Given the description of an element on the screen output the (x, y) to click on. 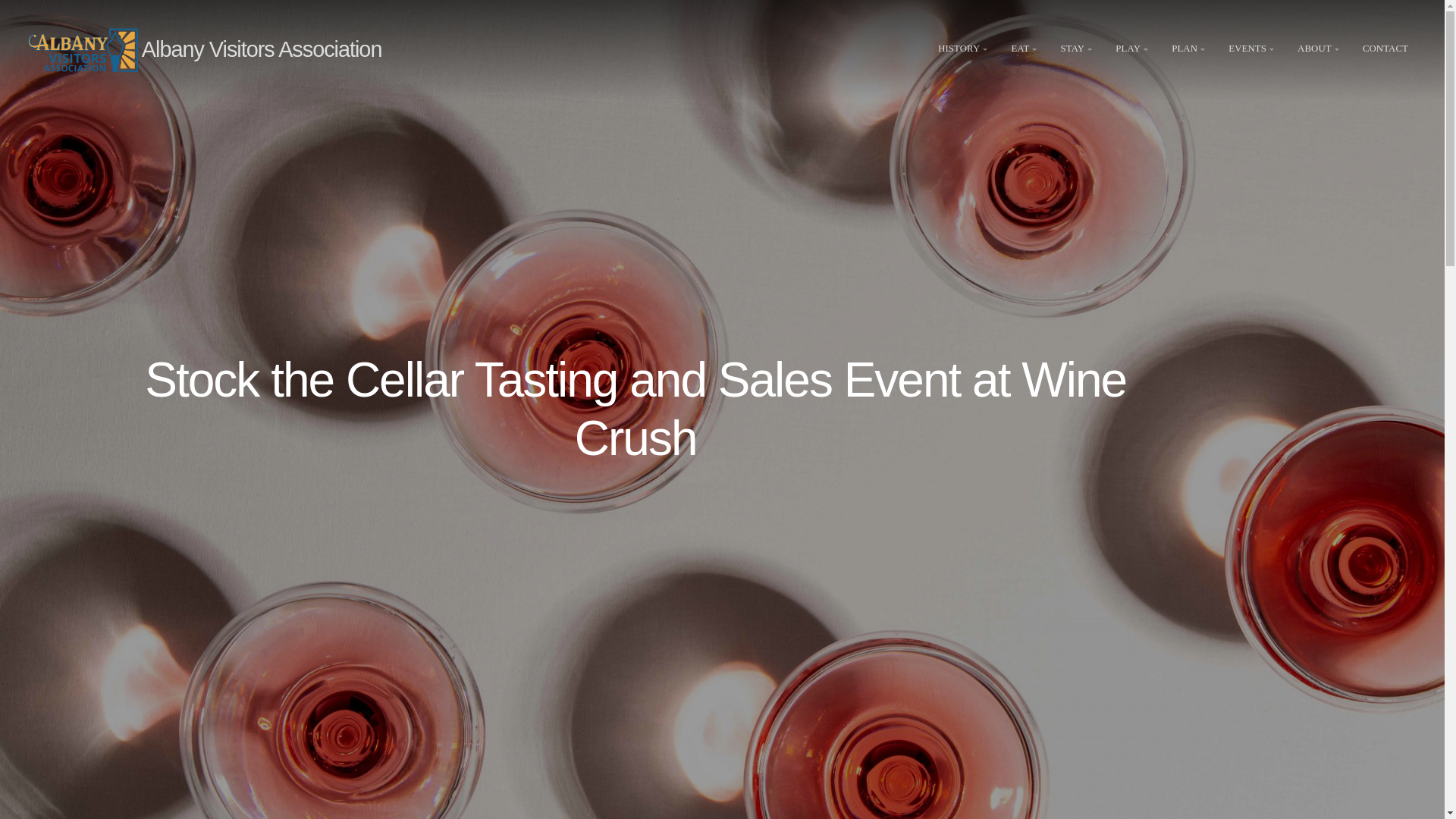
HISTORY (963, 50)
EAT (1026, 50)
PLAY (1133, 50)
PLAN (1190, 50)
STAY (1078, 50)
EVENTS (1252, 50)
Albany Visitors Association (261, 48)
